Given the description of an element on the screen output the (x, y) to click on. 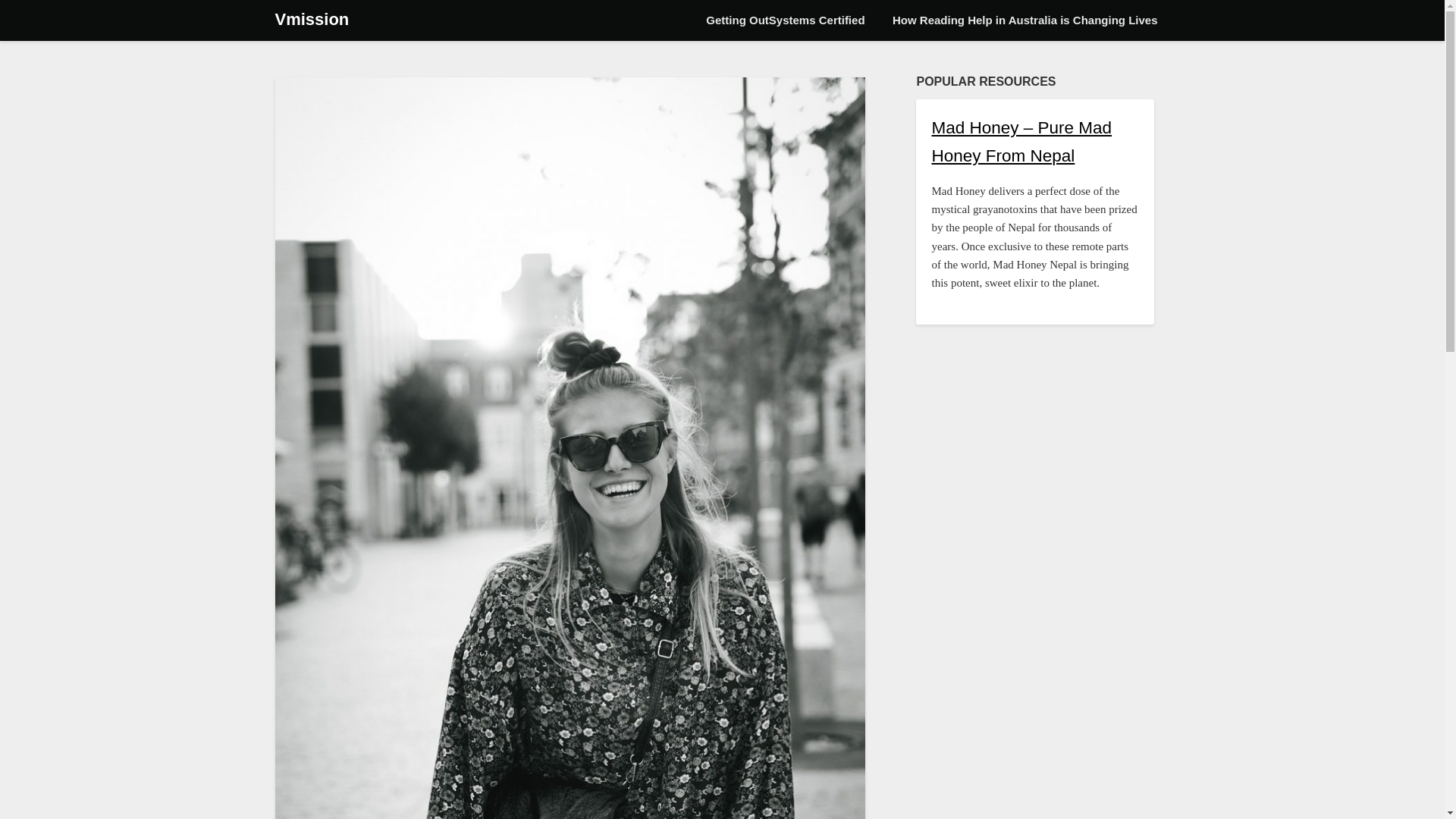
Vmission (312, 19)
How Reading Help in Australia is Changing Lives (1025, 20)
Getting OutSystems Certified (785, 20)
